Given the description of an element on the screen output the (x, y) to click on. 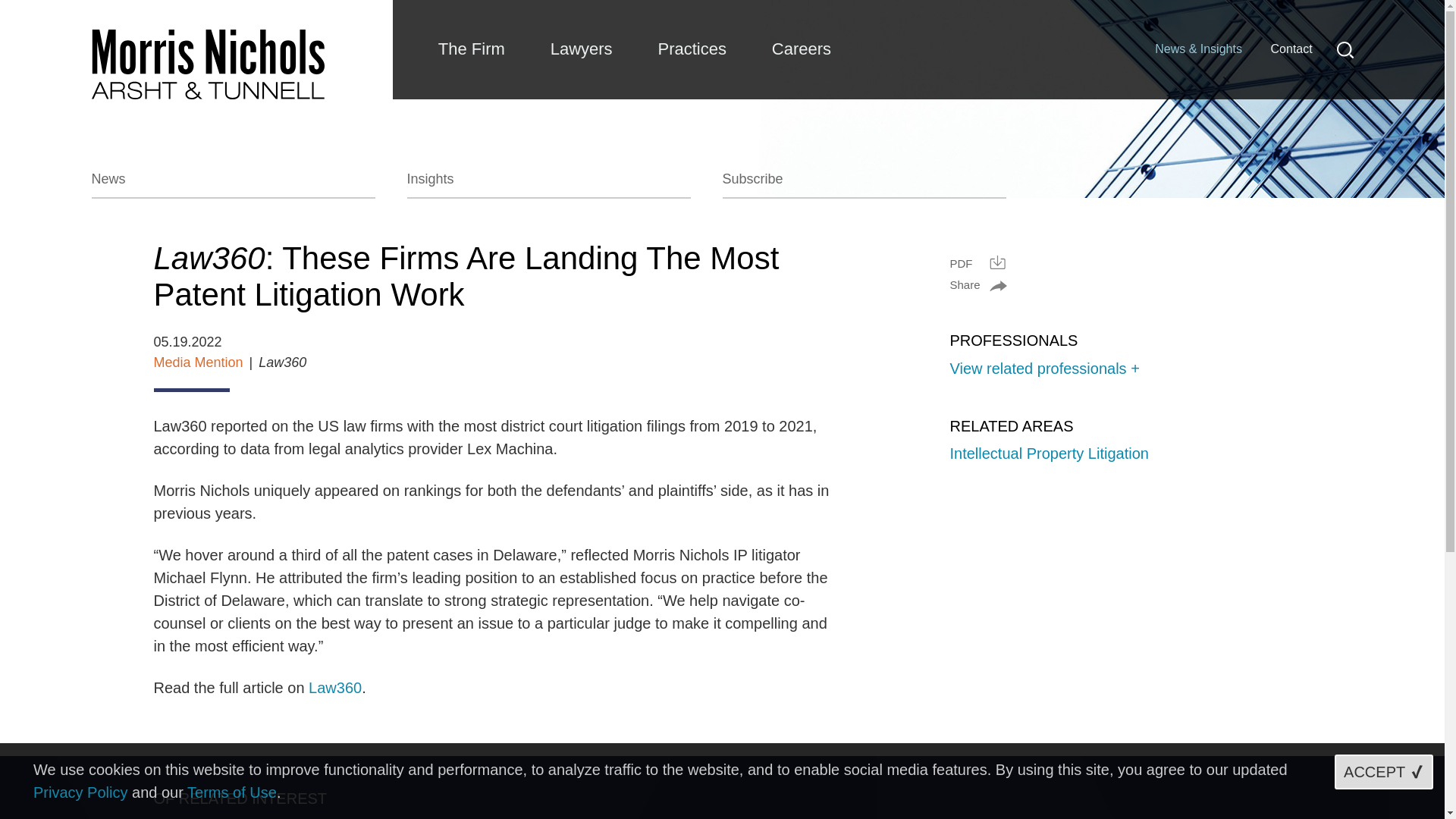
News (232, 183)
Share (977, 284)
Menu (673, 19)
Share (977, 284)
Lawyers (580, 48)
Insights (548, 183)
Careers (801, 48)
Main Menu (673, 19)
Practices (691, 48)
PDF (977, 263)
